Given the description of an element on the screen output the (x, y) to click on. 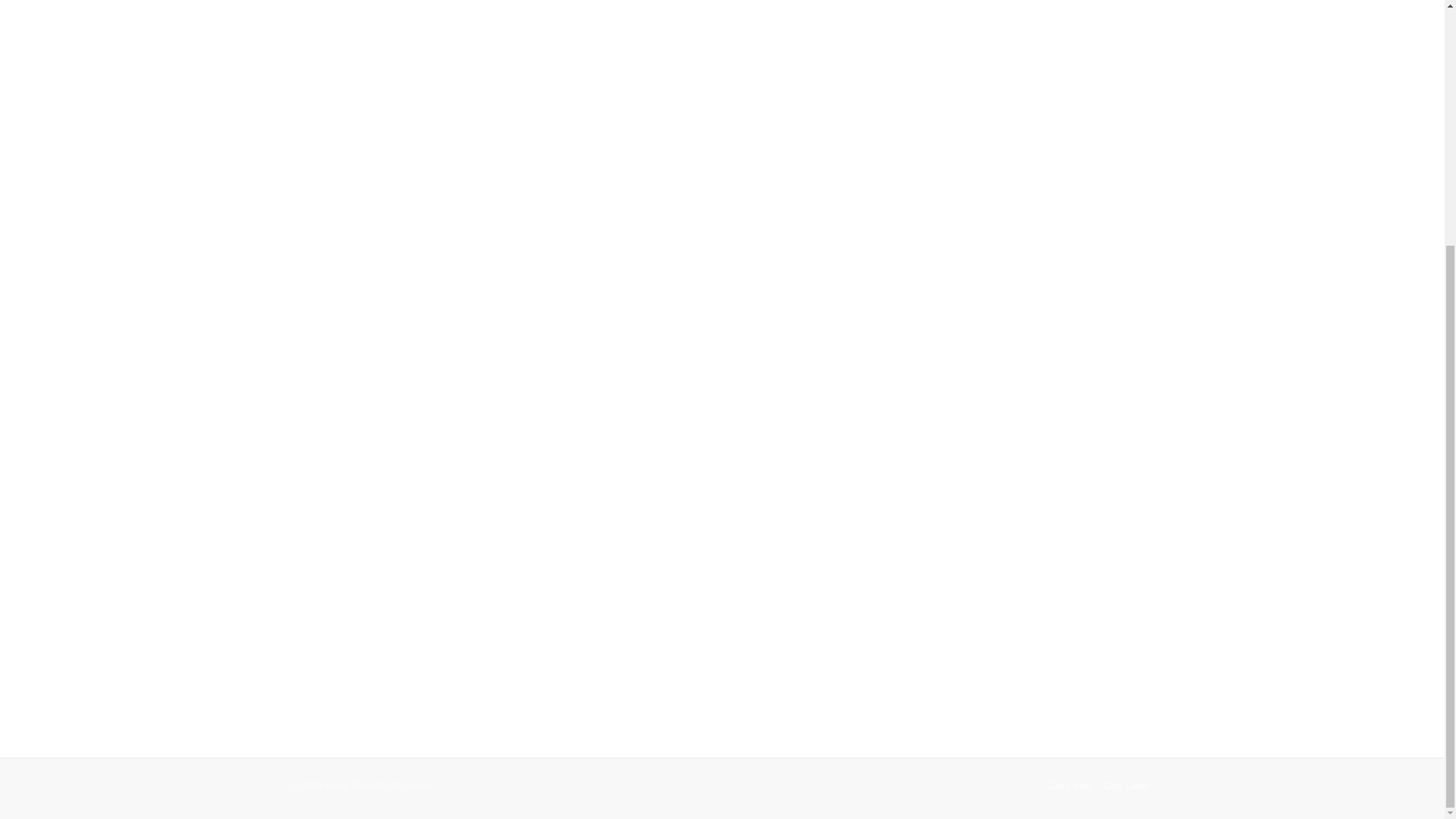
Cat Lover (1071, 786)
Dog Lover (1126, 786)
